Given the description of an element on the screen output the (x, y) to click on. 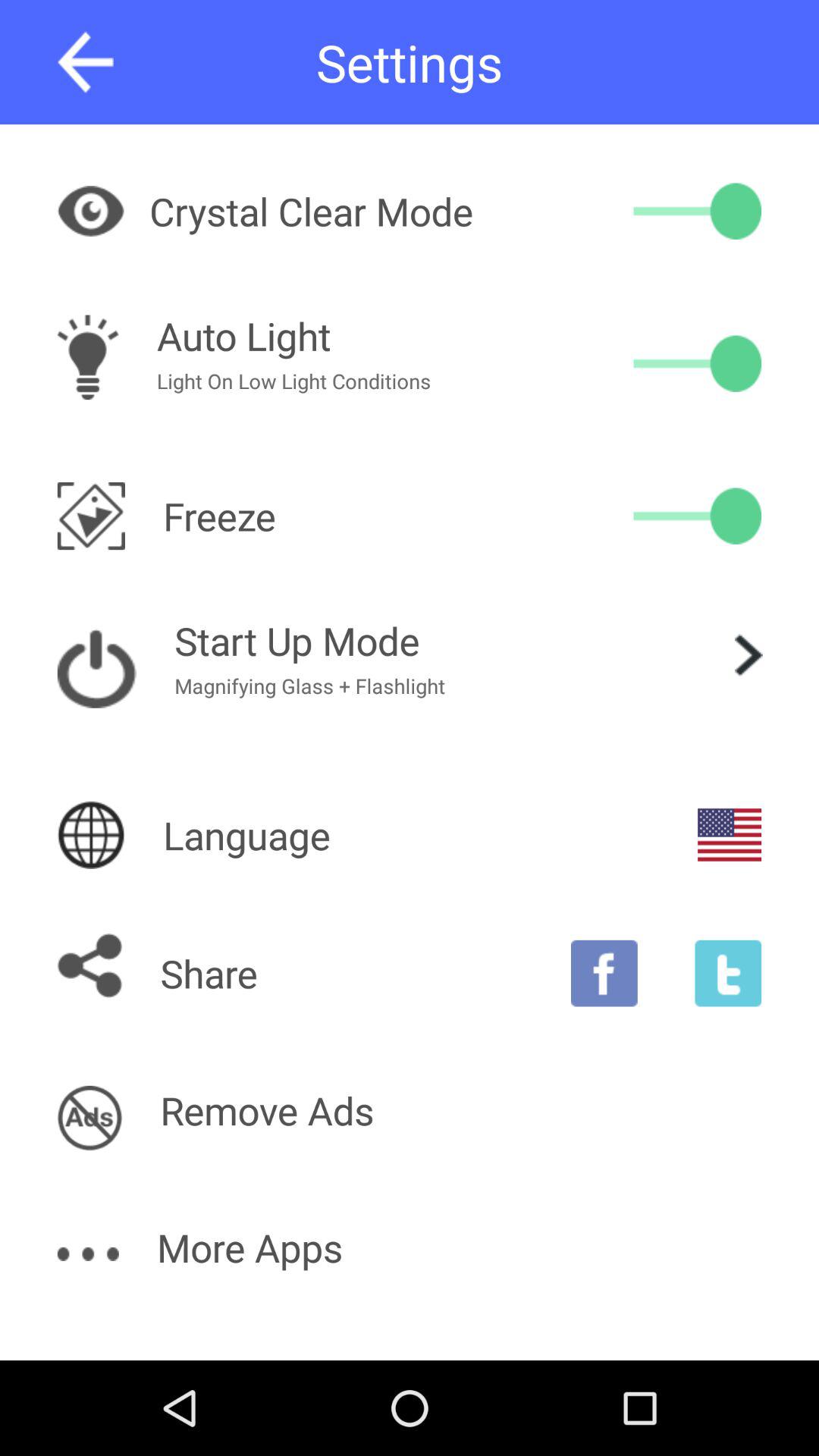
share on twitter with this button (728, 973)
